Given the description of an element on the screen output the (x, y) to click on. 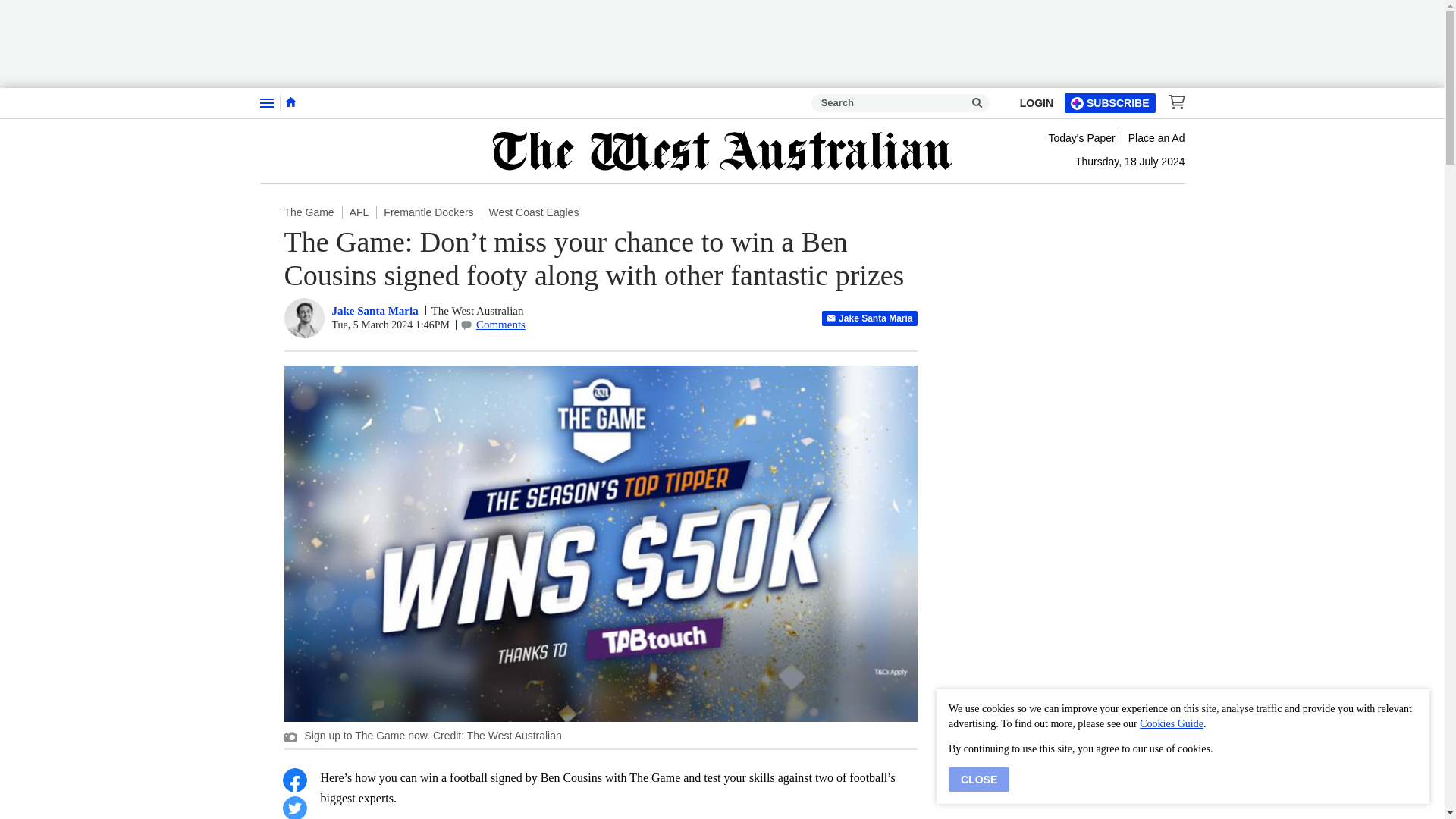
Home (290, 102)
Empty Cart Icon (1172, 102)
Please enter a search term. (977, 102)
